Given the description of an element on the screen output the (x, y) to click on. 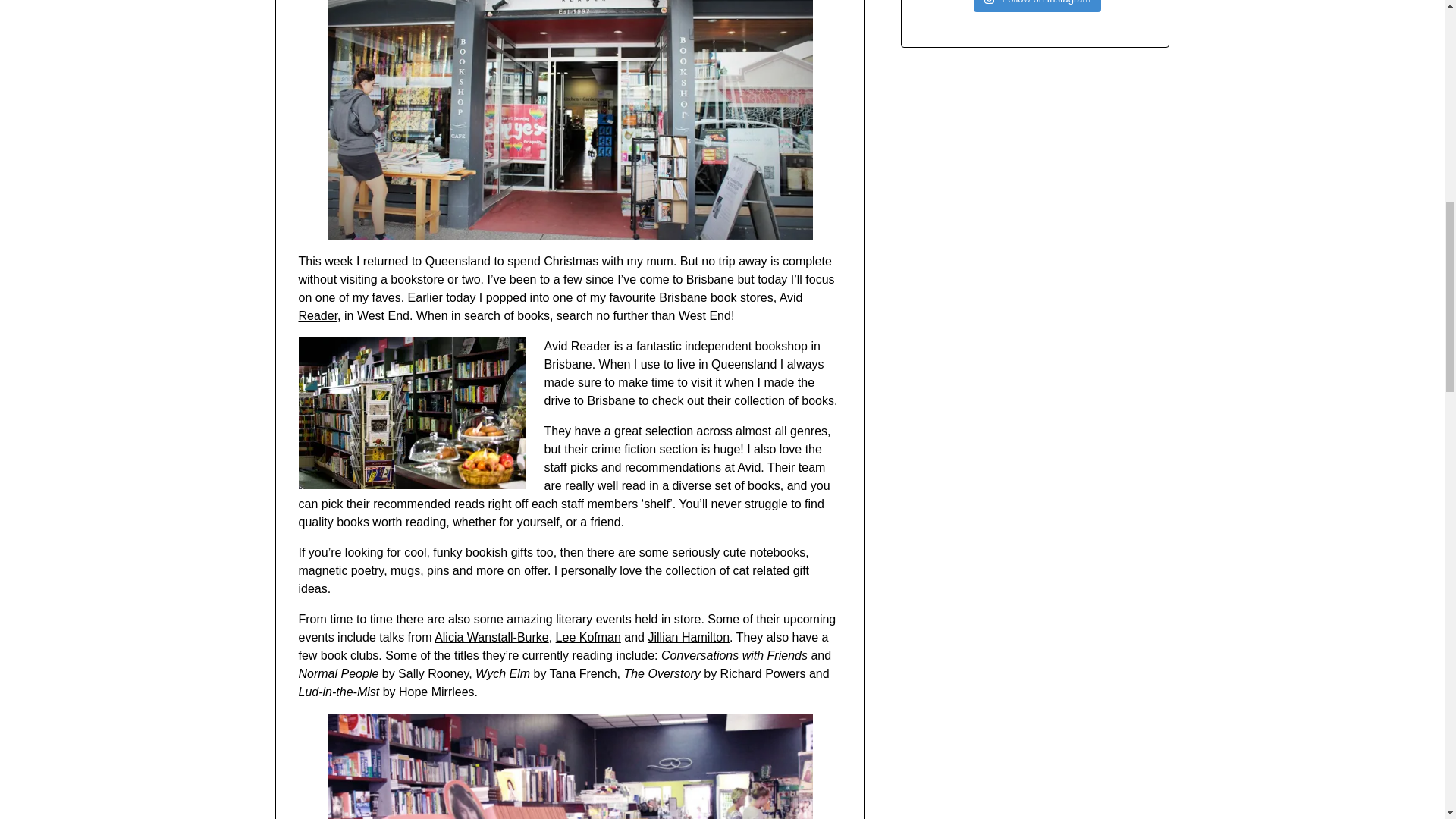
Jillian Hamilton (688, 636)
Alicia Wanstall-Burke - Blood of Heirs (490, 636)
Jillian Hamilton - Risk Dollarisation (688, 636)
Lee Kofman - Imperfect (588, 636)
Avid Reader (550, 306)
Alicia Wanstall-Burke (490, 636)
Lee Kofman (588, 636)
